Given the description of an element on the screen output the (x, y) to click on. 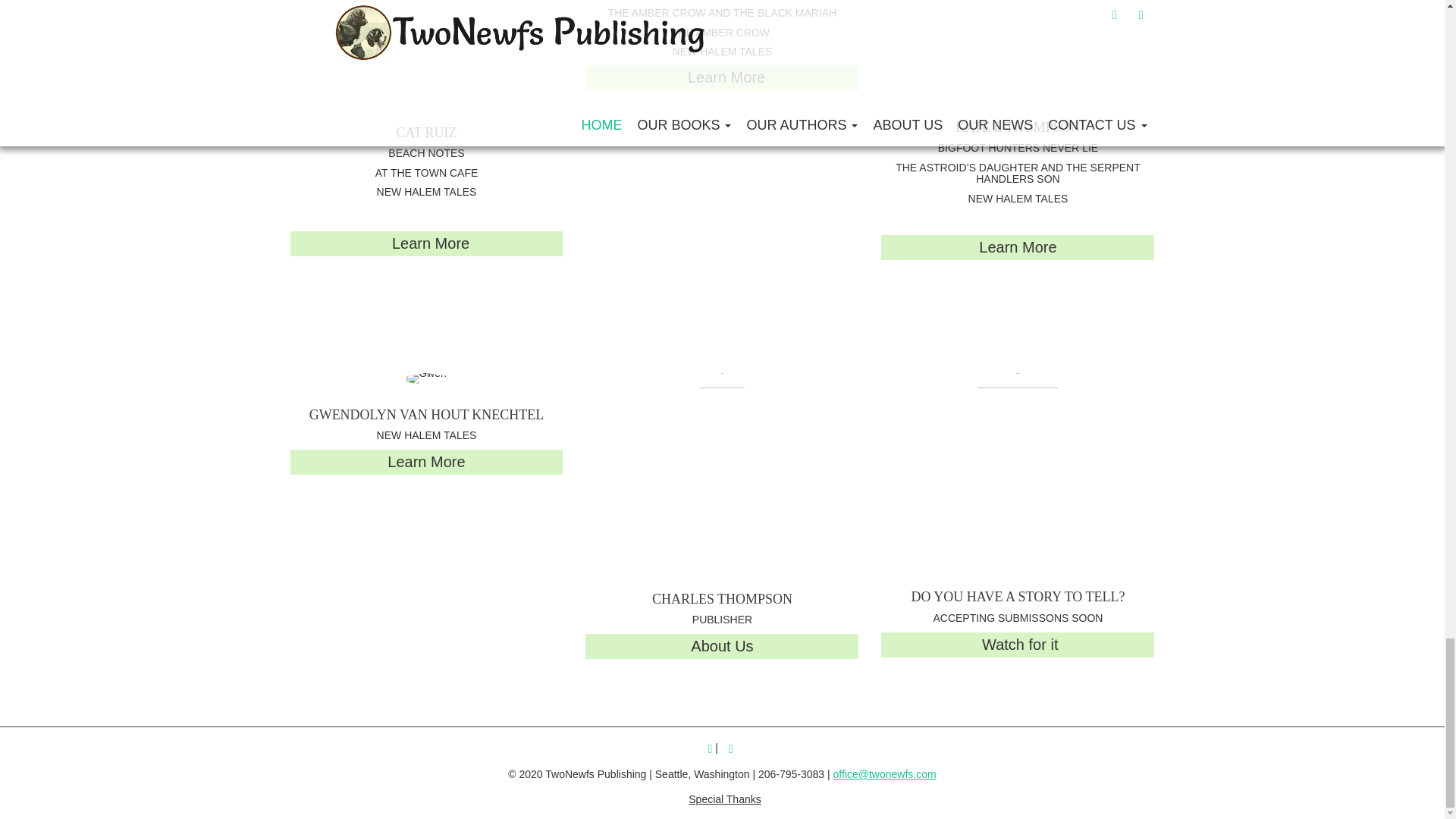
Learn More (1017, 247)
Learn More (723, 76)
Learn More (427, 243)
